Given the description of an element on the screen output the (x, y) to click on. 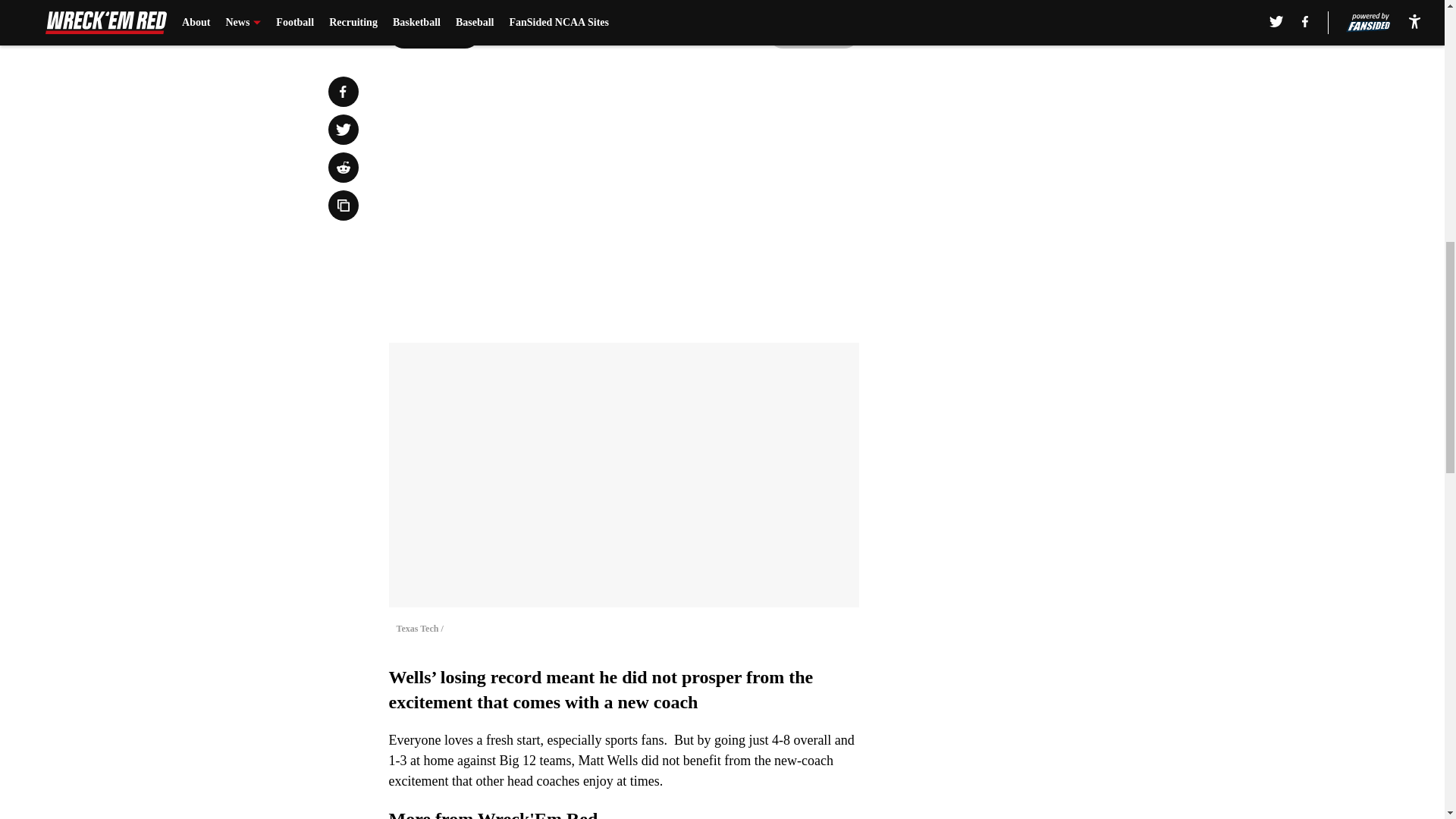
Next (813, 33)
Prev (433, 33)
